Given the description of an element on the screen output the (x, y) to click on. 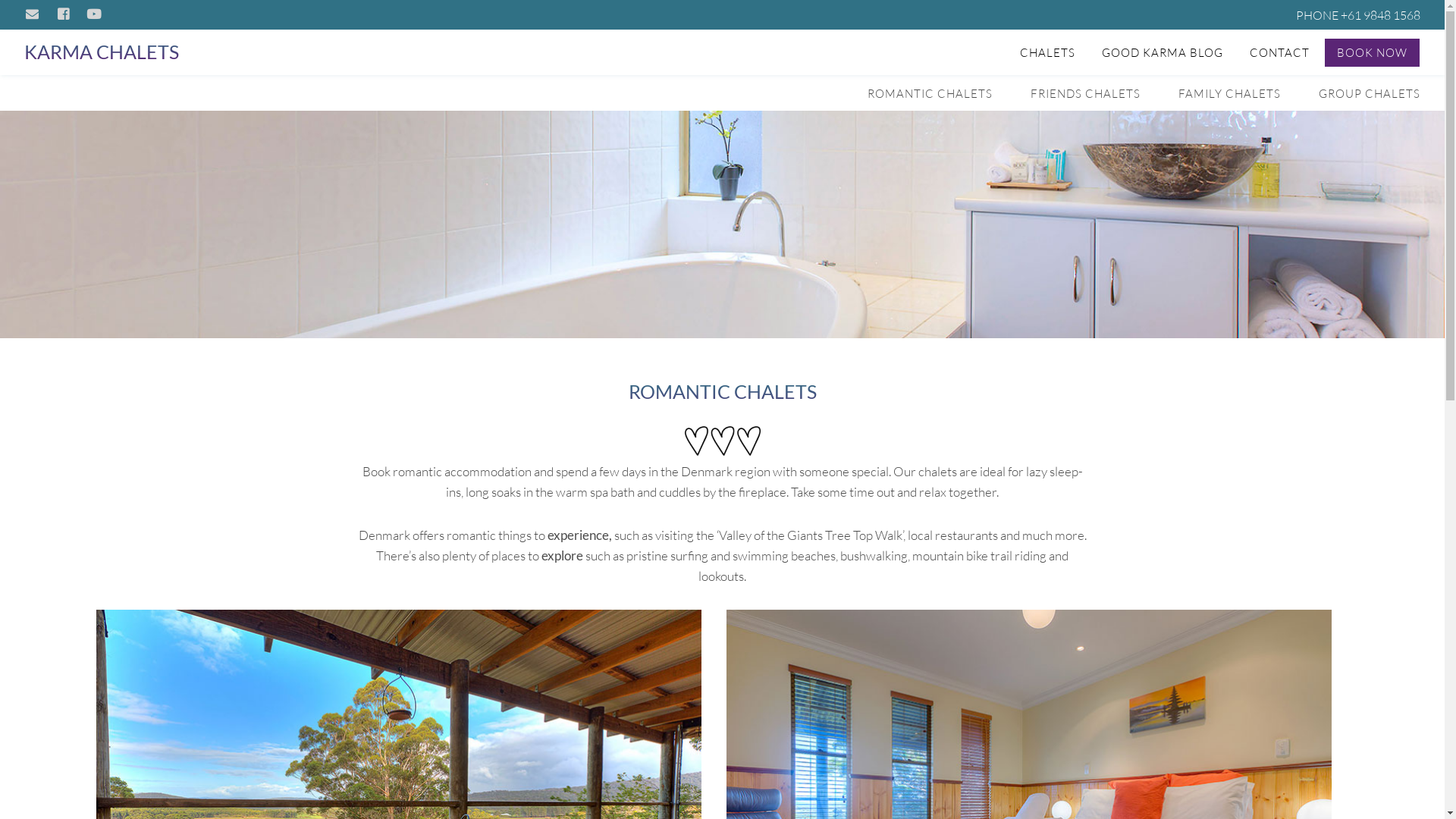
CHALETS Element type: text (1047, 52)
experience, Element type: text (579, 534)
CONTACT Element type: text (1279, 52)
GOOD KARMA BLOG Element type: text (1162, 52)
explore Element type: text (562, 555)
FRIENDS CHALETS Element type: text (1085, 93)
KARMA CHALETS Element type: text (101, 51)
ROMANTIC CHALETS Element type: text (929, 93)
FAMILY CHALETS Element type: text (1229, 93)
GROUP CHALETS Element type: text (1369, 93)
BOOK NOW Element type: text (1372, 52)
